Given the description of an element on the screen output the (x, y) to click on. 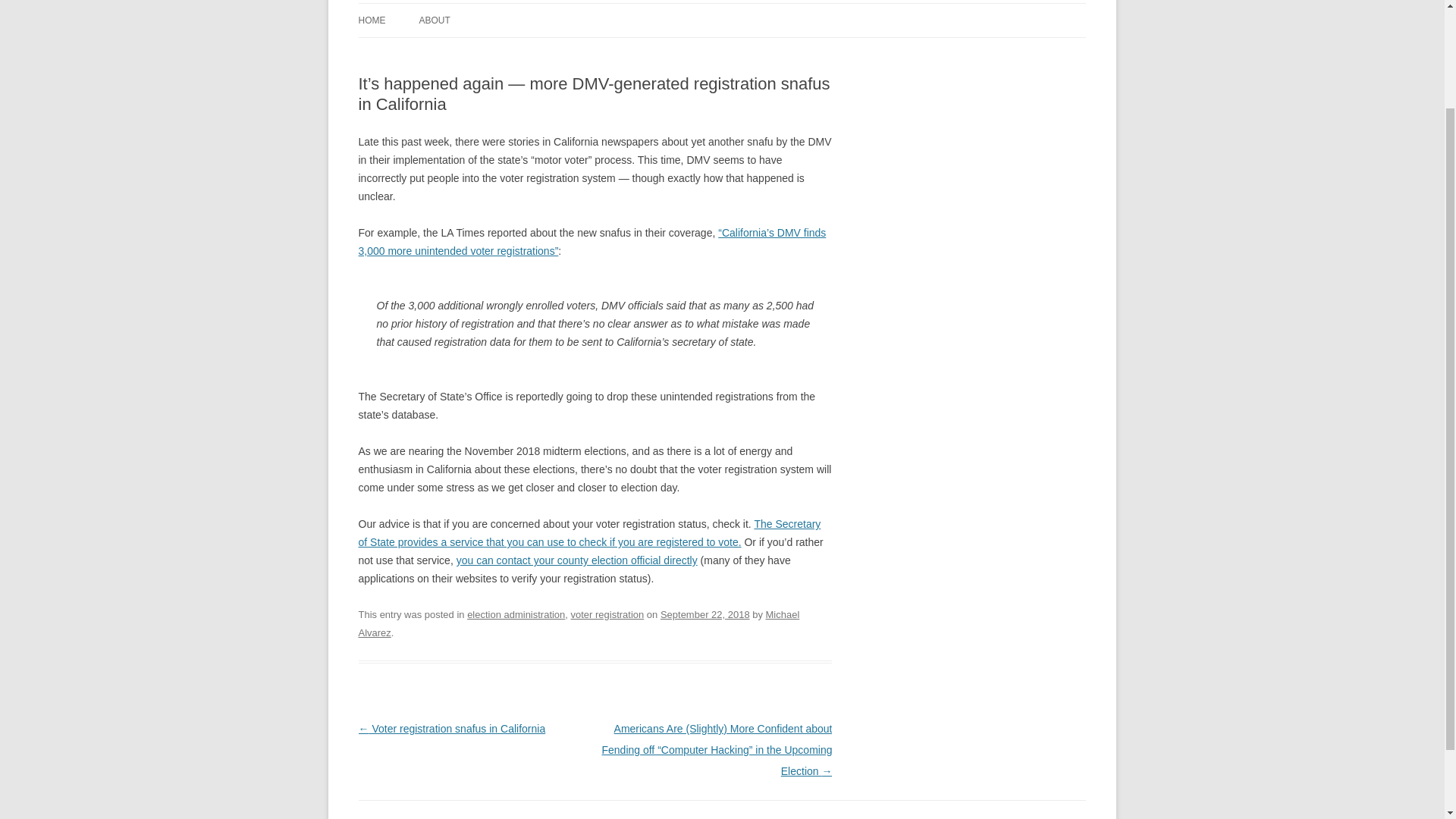
you can contact your county election official directly (577, 560)
September 22, 2018 (705, 614)
ABOUT (434, 20)
3:44 pm (705, 614)
Michael Alvarez (578, 623)
voter registration (607, 614)
election administration (515, 614)
View all posts by Michael Alvarez (578, 623)
